Given the description of an element on the screen output the (x, y) to click on. 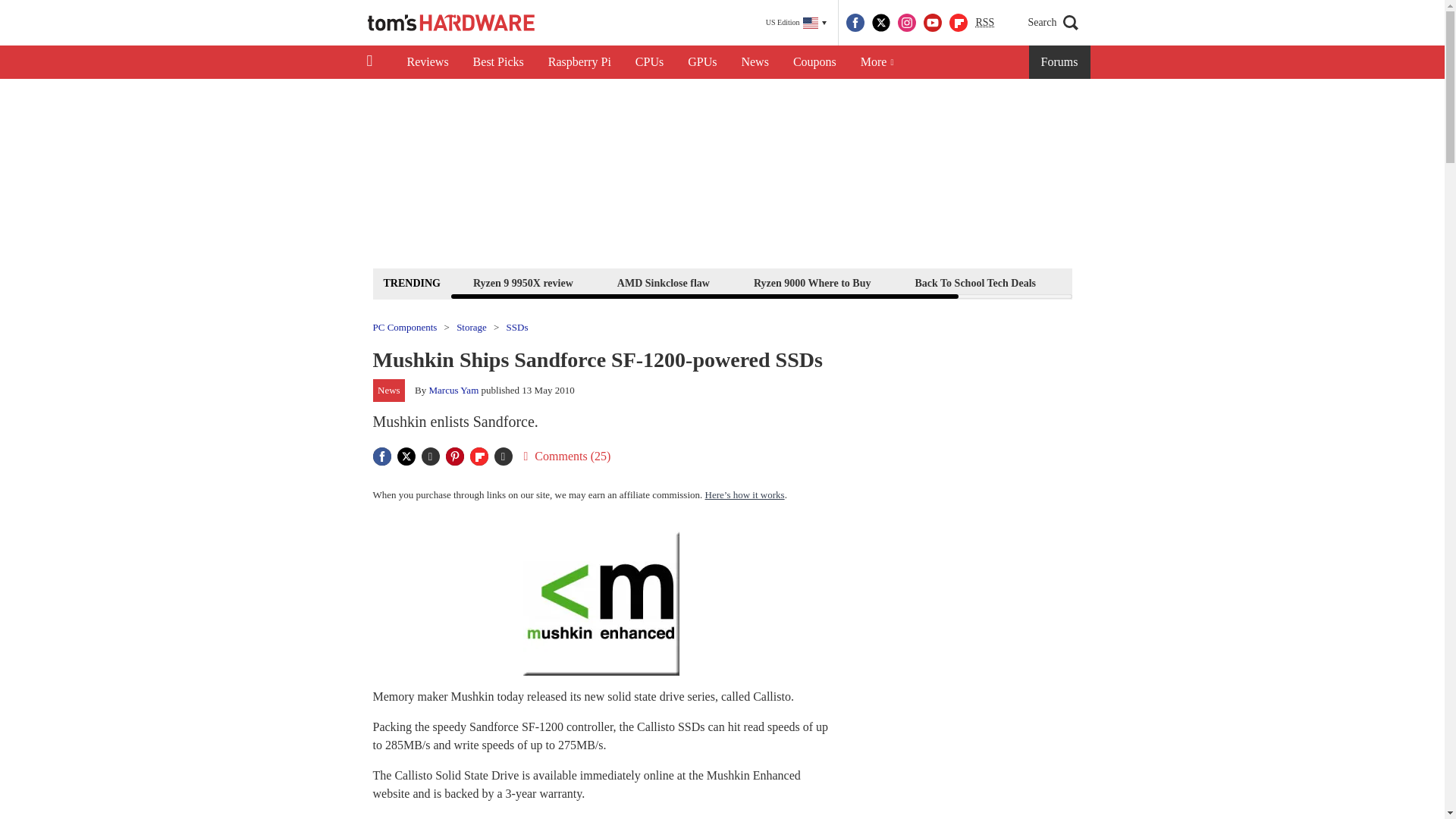
US Edition (796, 22)
Ryzen 9 9950X review (522, 282)
Best Picks (498, 61)
GPUs (702, 61)
Forums (1059, 61)
CPUs (649, 61)
Really Simple Syndication (984, 21)
News (754, 61)
Coupons (814, 61)
Raspberry Pi (579, 61)
